Given the description of an element on the screen output the (x, y) to click on. 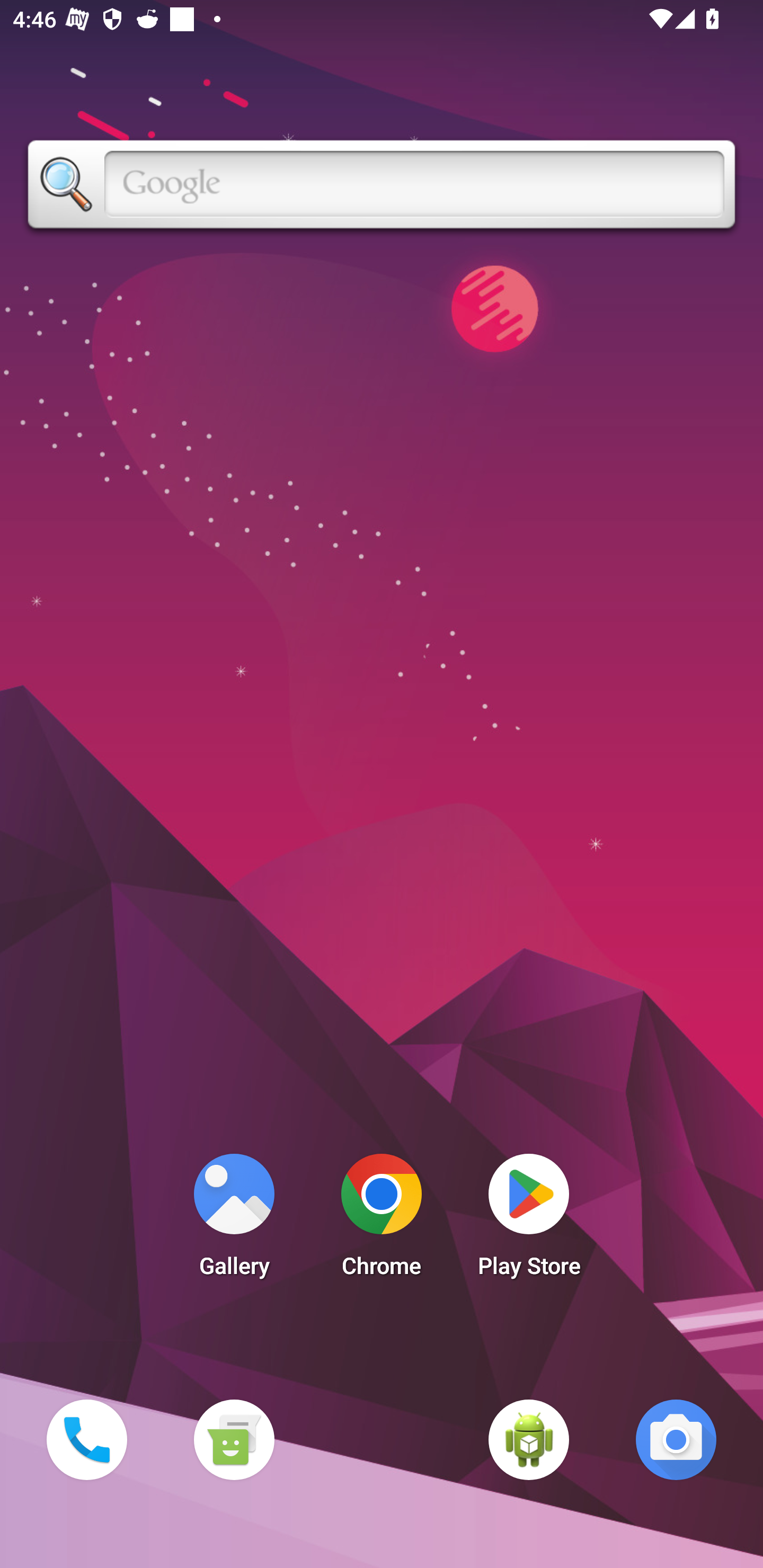
Gallery (233, 1220)
Chrome (381, 1220)
Play Store (528, 1220)
Phone (86, 1439)
Messaging (233, 1439)
WebView Browser Tester (528, 1439)
Camera (676, 1439)
